Given the description of an element on the screen output the (x, y) to click on. 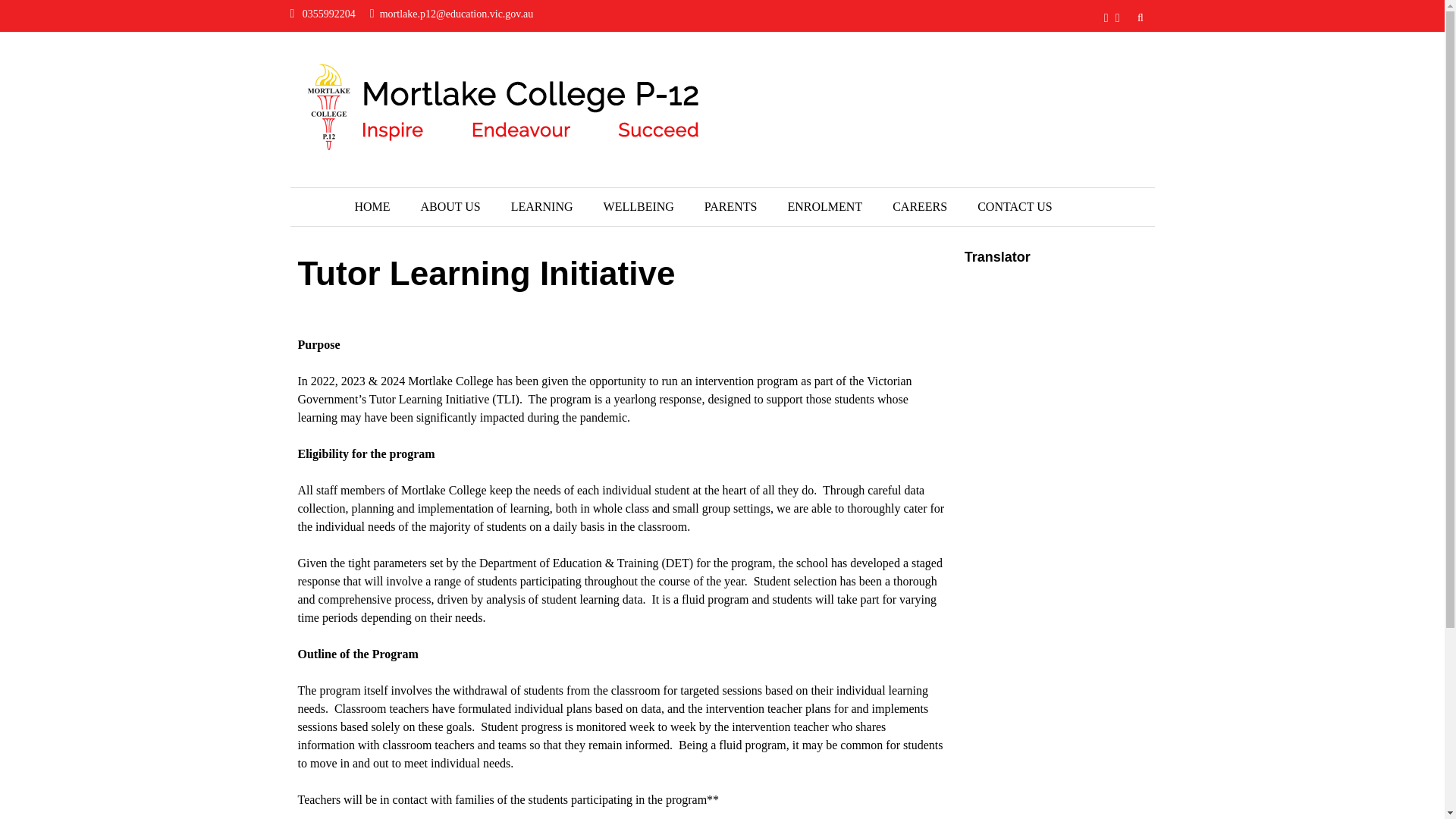
WELLBEING (638, 207)
LEARNING (542, 207)
HOME (371, 207)
ABOUT US (449, 207)
